Given the description of an element on the screen output the (x, y) to click on. 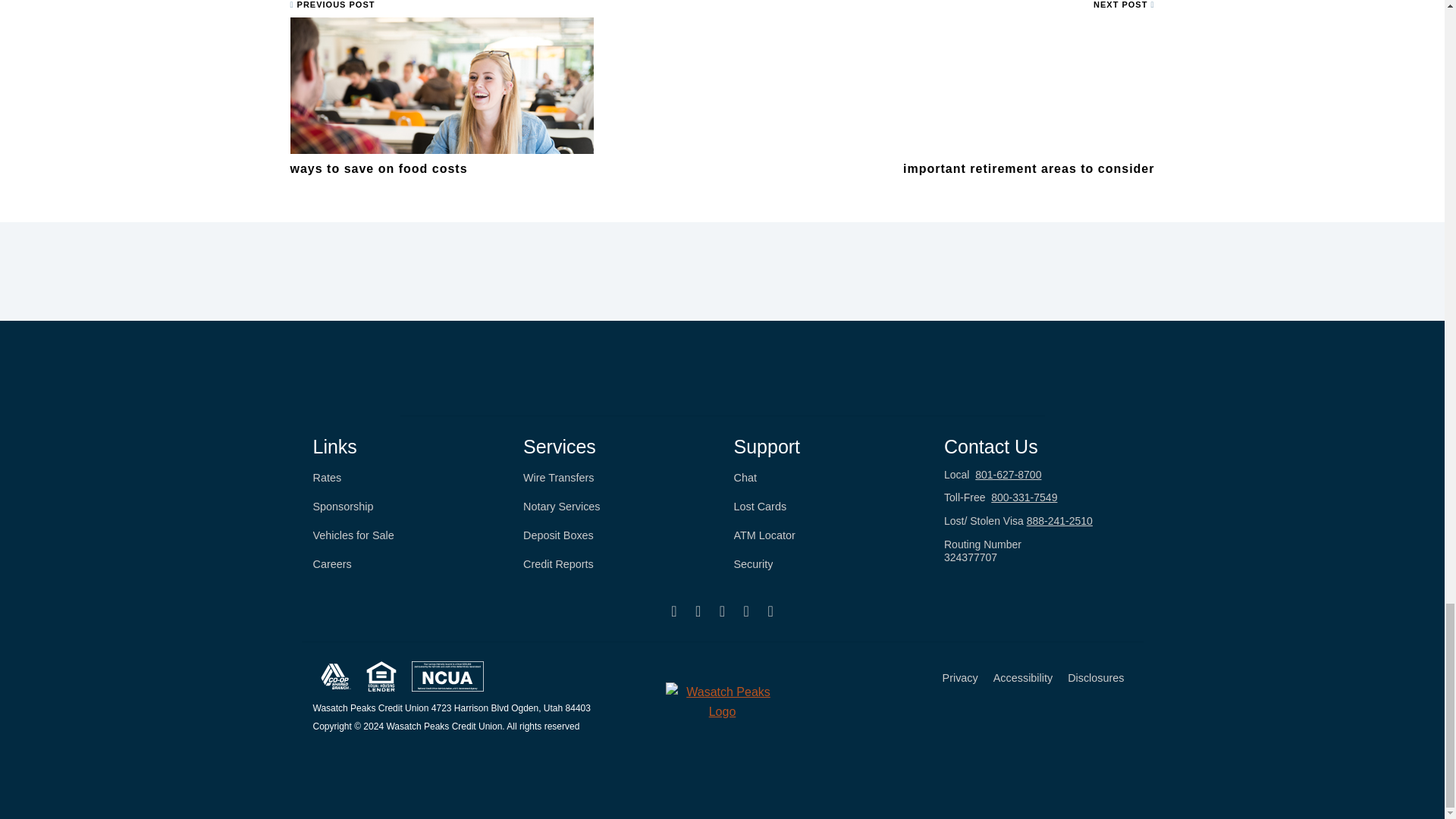
Wasatch Peaks Logo (721, 701)
